Given the description of an element on the screen output the (x, y) to click on. 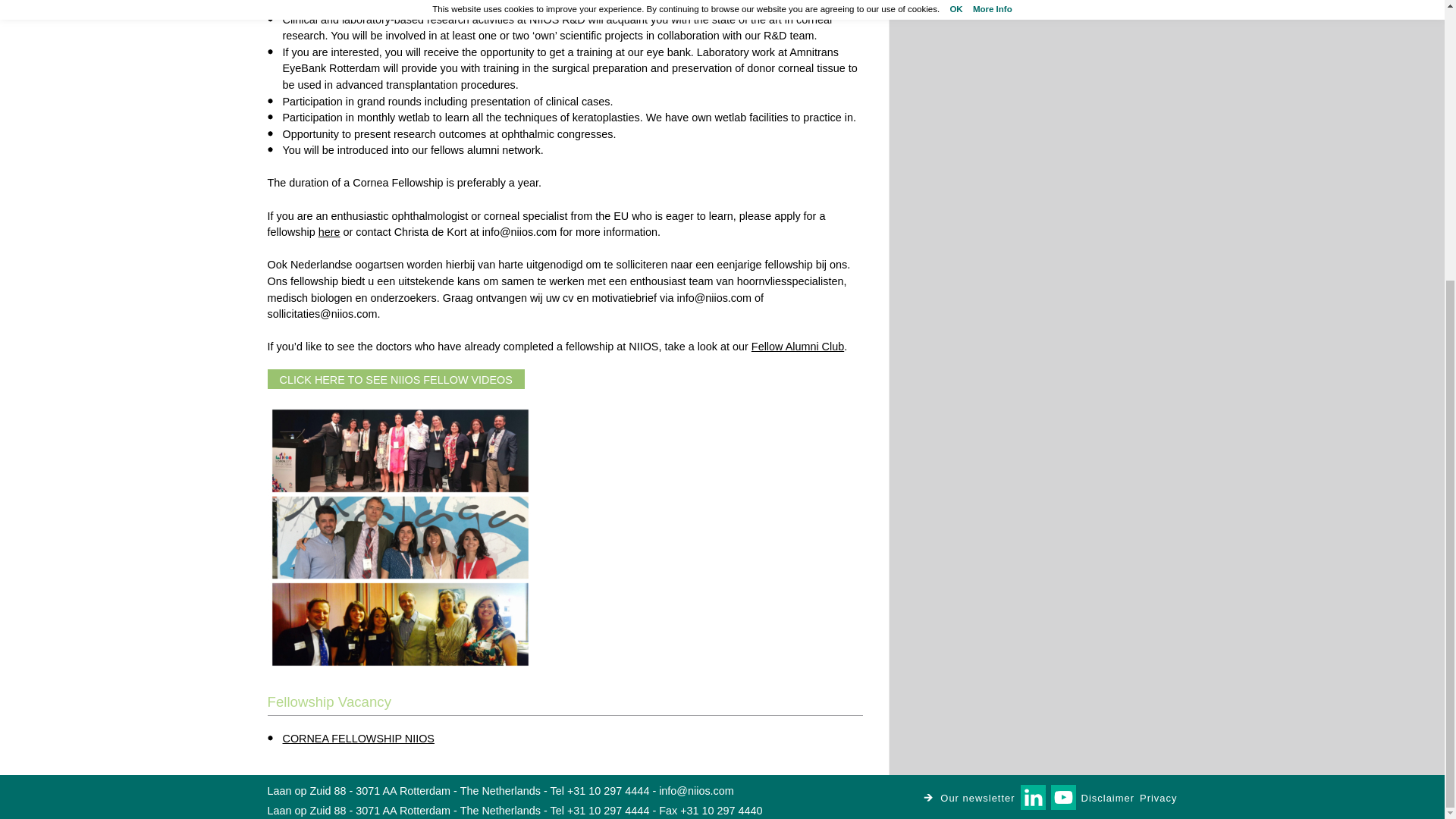
CLICK HERE TO SEE NIIOS FELLOW VIDEOS (395, 379)
here (329, 232)
CORNEA FELLOWSHIP NIIOS (357, 738)
Fellow Alumni Club (797, 346)
